Given the description of an element on the screen output the (x, y) to click on. 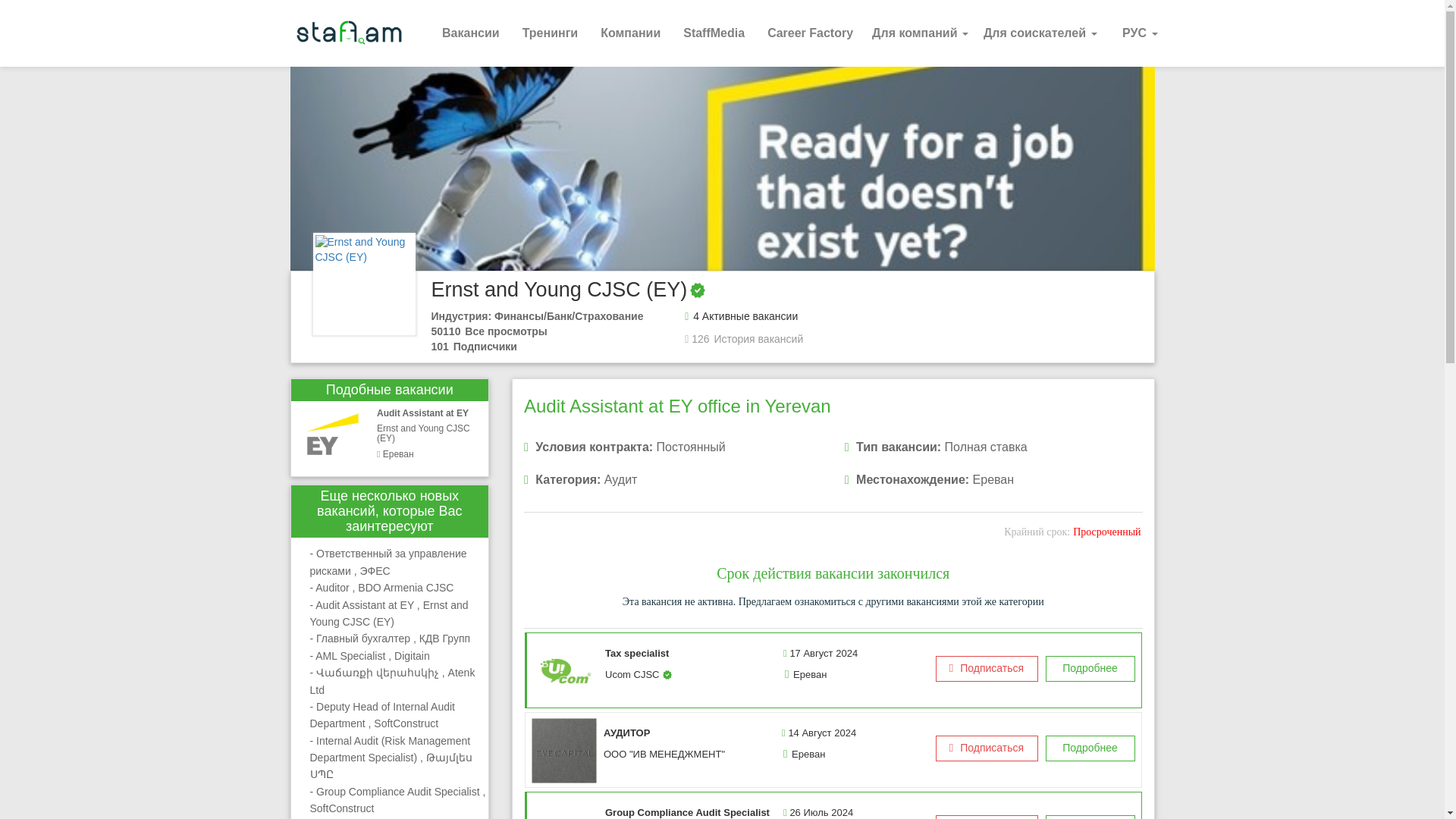
StaffMedia (713, 33)
Career Factory (809, 33)
